Given the description of an element on the screen output the (x, y) to click on. 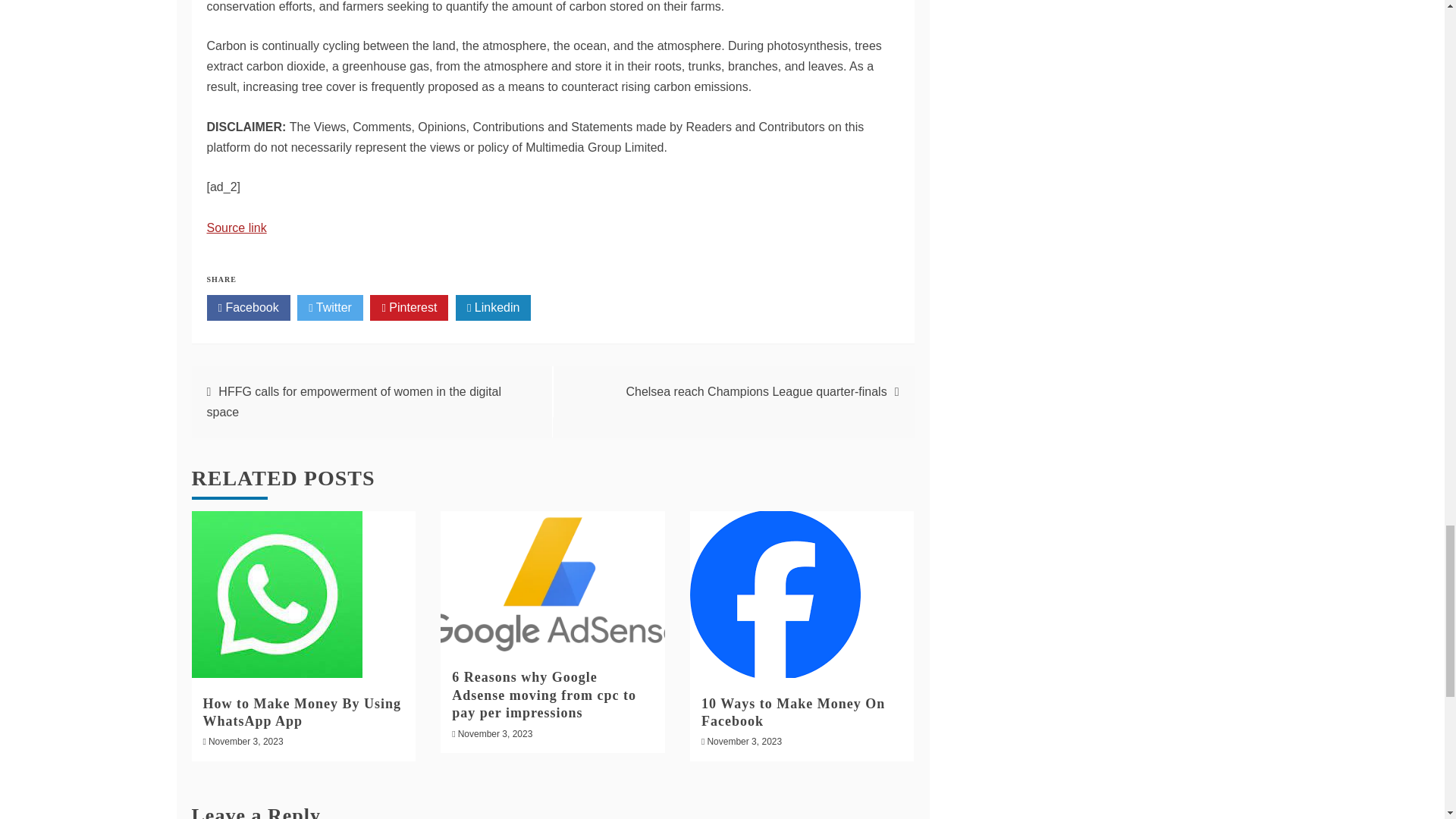
Pinterest (408, 307)
Twitter (329, 307)
Linkedin (493, 307)
Facebook (247, 307)
10 Ways to Make Money On Facebook (793, 712)
November 3, 2023 (495, 733)
Chelsea reach Champions League quarter-finals (756, 391)
HFFG calls for empowerment of women in the digital space (353, 401)
November 3, 2023 (743, 741)
